Given the description of an element on the screen output the (x, y) to click on. 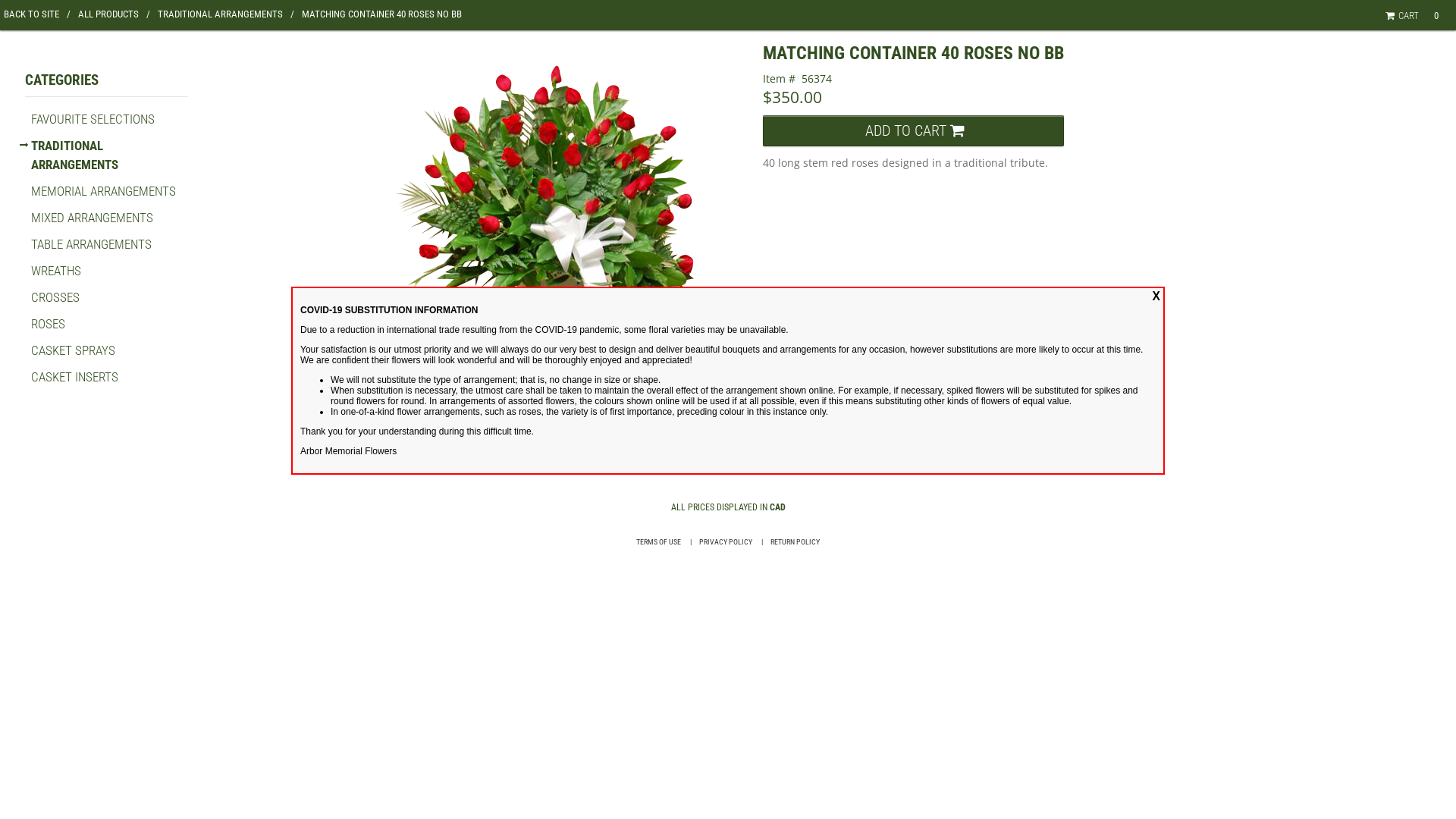
TABLE ARRANGEMENTS Element type: text (91, 243)
PRIVACY POLICY Element type: text (725, 541)
MIXED ARRANGEMENTS Element type: text (92, 217)
BACK TO SITE Element type: text (36, 13)
CART Element type: text (1404, 15)
ALL PRODUCTS Element type: text (114, 13)
    Vase Arrangement 24 Carnations Element type: hover (599, 413)
ADD TO CART Element type: text (912, 130)
WREATHS Element type: text (56, 270)
CROSSES Element type: text (55, 296)
 Standing Spray Tropical Element type: hover (532, 413)
TRADITIONAL ARRANGEMENTS Element type: text (225, 13)
TERMS OF USE Element type: text (658, 541)
TRADITIONAL ARRANGEMENTS Element type: text (74, 155)
CASKET SPRAYS Element type: text (73, 349)
Click to Enlarge Element type: text (558, 202)
Urn Container Tropical With Birds Element type: hover (465, 413)
MEMORIAL ARRANGEMENTS Element type: text (103, 190)
RETURN POLICY Element type: text (794, 541)
Red Rose Tribute 30 Red Roses B.B. Element type: hover (399, 413)
FAVOURITE SELECTIONS Element type: text (92, 118)
ROSES Element type: text (48, 323)
CASKET INSERTS Element type: text (74, 376)
